Given the description of an element on the screen output the (x, y) to click on. 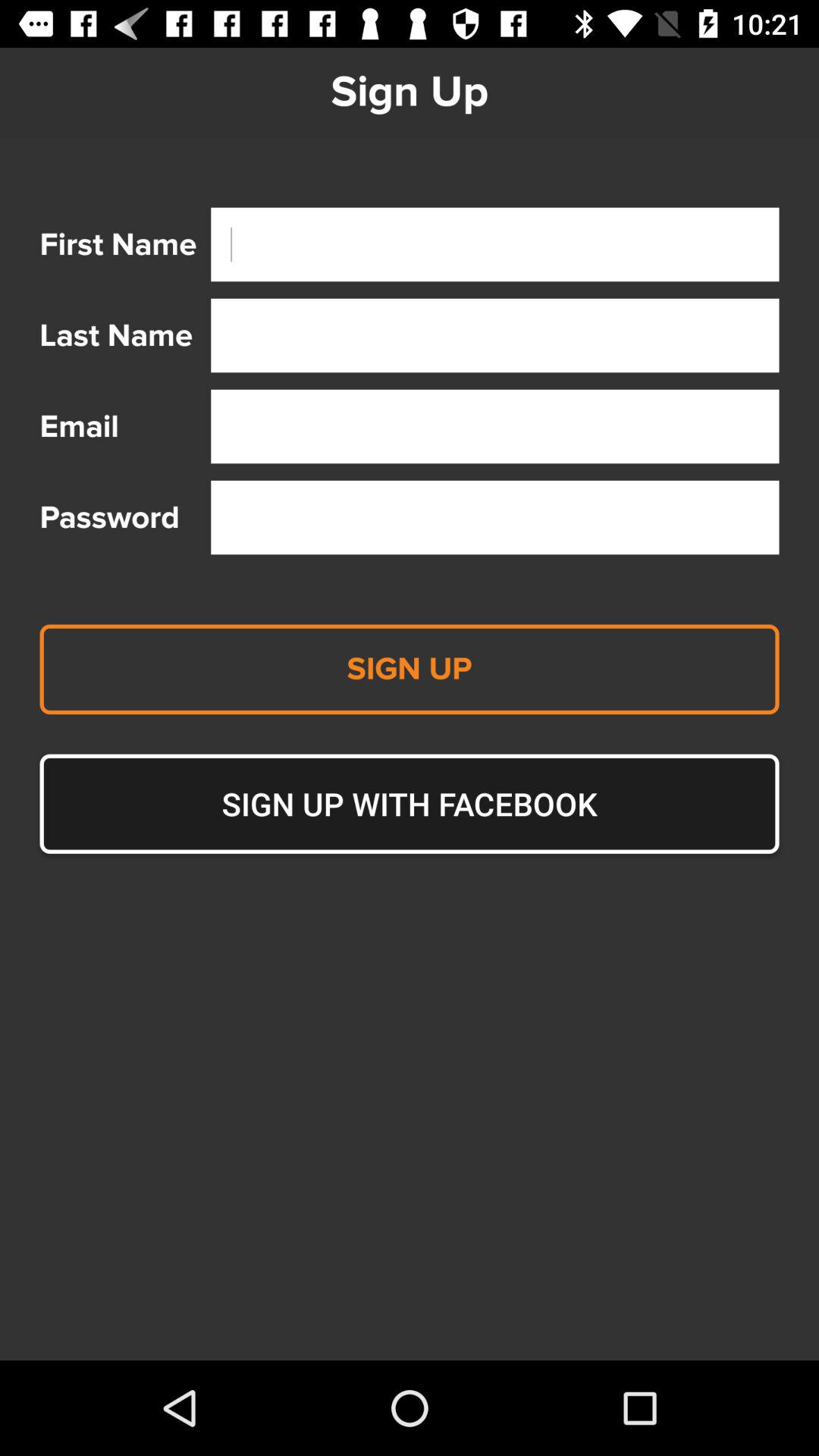
choose item next to the email (495, 426)
